Given the description of an element on the screen output the (x, y) to click on. 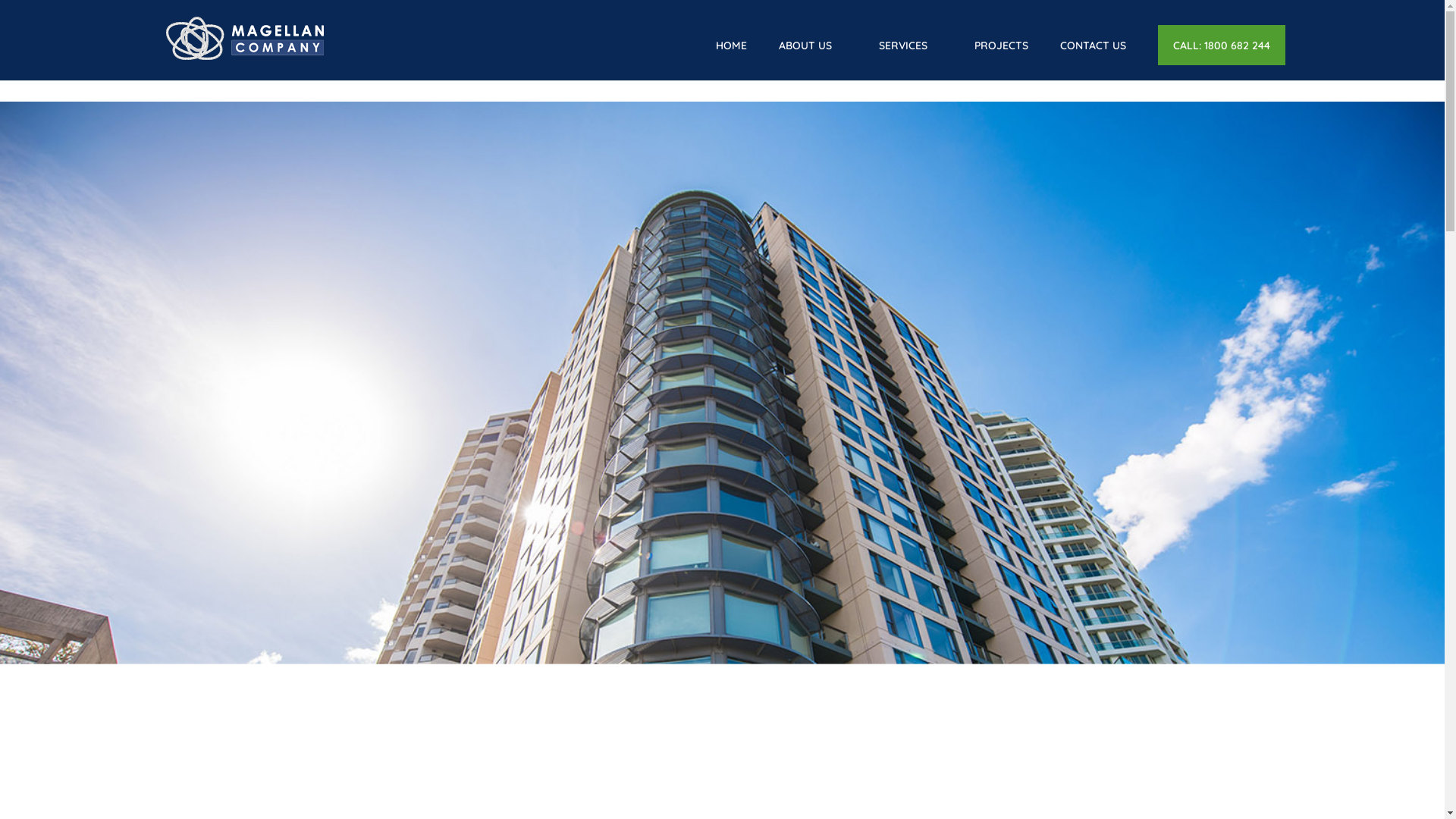
CONTACT US Element type: text (1093, 57)
HOME Element type: text (730, 57)
SERVICES Element type: text (910, 57)
PROJECTS Element type: text (1001, 57)
ABOUT US Element type: text (812, 57)
CALL: 1800 682 244 Element type: text (1221, 45)
